Given the description of an element on the screen output the (x, y) to click on. 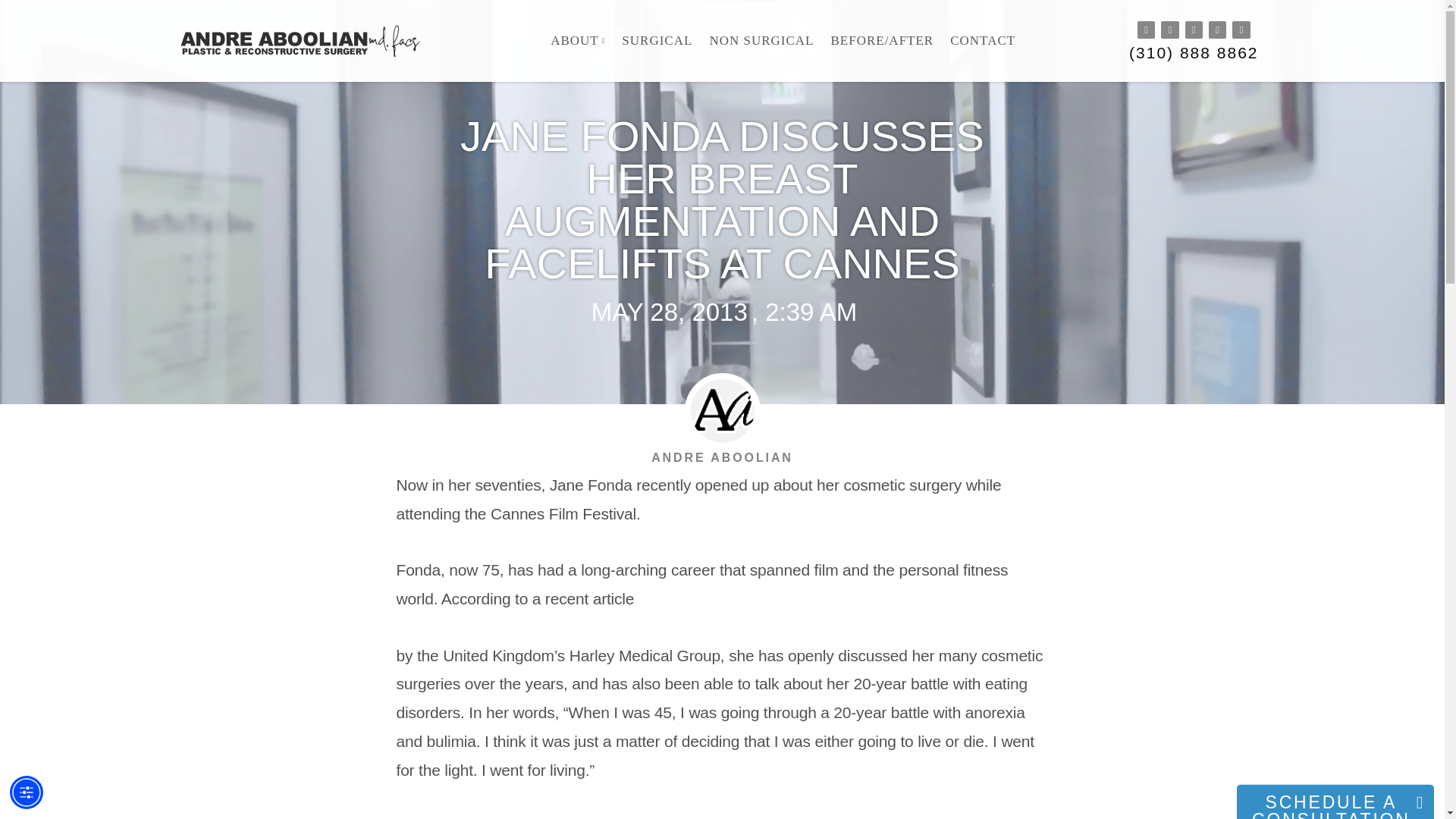
ABOUT (577, 40)
Youtube (1193, 29)
NON SURGICAL (760, 40)
Twitter (1216, 29)
Instagram (1145, 29)
SURGICAL (657, 40)
CONTACT (982, 40)
Accessibility Menu (26, 792)
Yelp (1168, 29)
MAY 28, 2013 (668, 311)
Cropped Logo For Web 1.png (306, 40)
ANDRE ABOOLIAN (722, 457)
Google-plus-g (1240, 29)
